Given the description of an element on the screen output the (x, y) to click on. 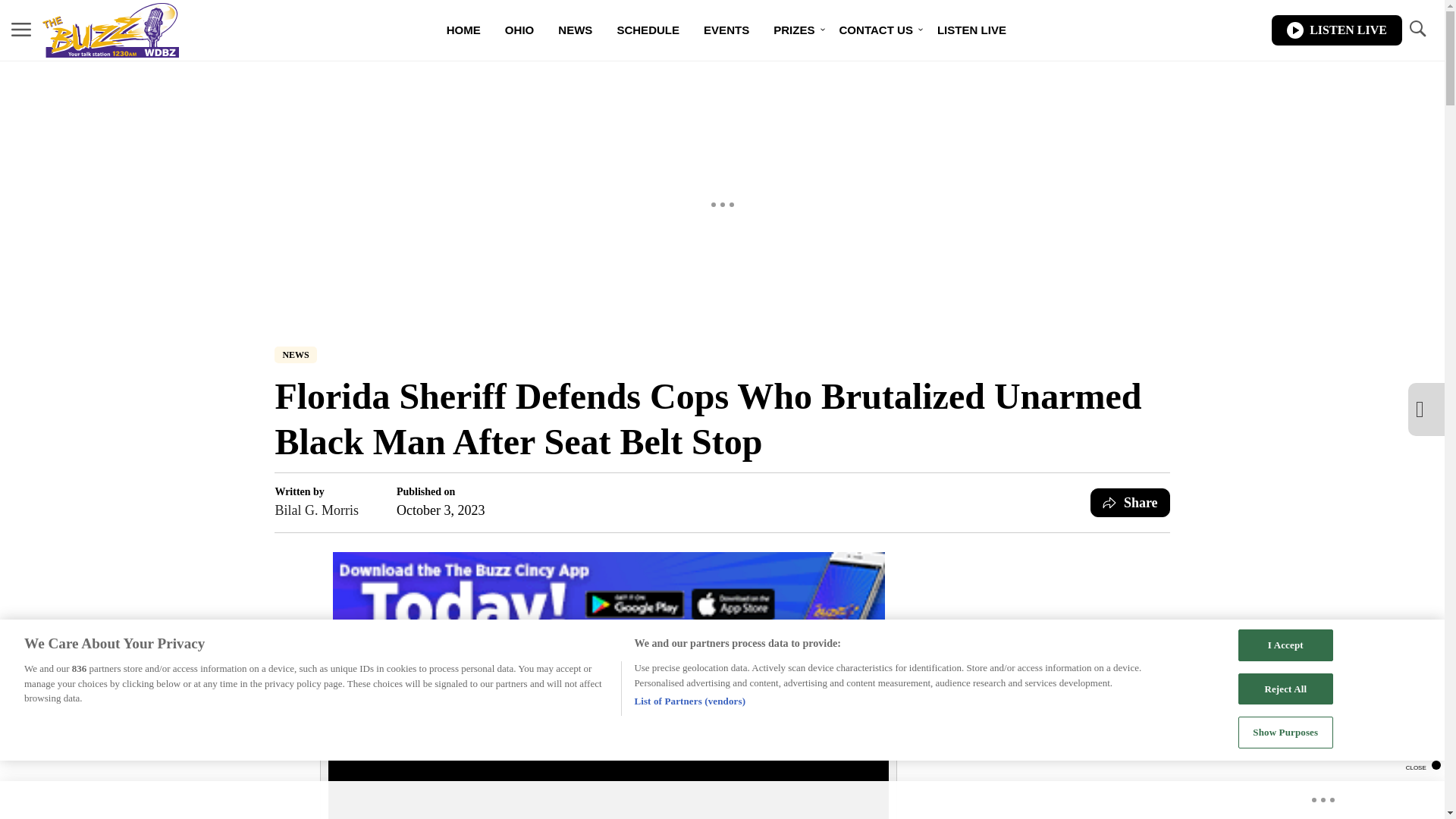
Bilal G. Morris (316, 509)
FACEBOOK (602, 653)
MENU (20, 29)
MENU (20, 30)
Share (1130, 502)
TOGGLE SEARCH (1417, 30)
LISTEN LIVE (970, 30)
NEWS (575, 30)
EVENTS (726, 30)
LISTEN LIVE (1336, 30)
TWITTER (785, 653)
CONTACT US (875, 30)
NEWS (295, 354)
SCHEDULE (647, 30)
OHIO (519, 30)
